Given the description of an element on the screen output the (x, y) to click on. 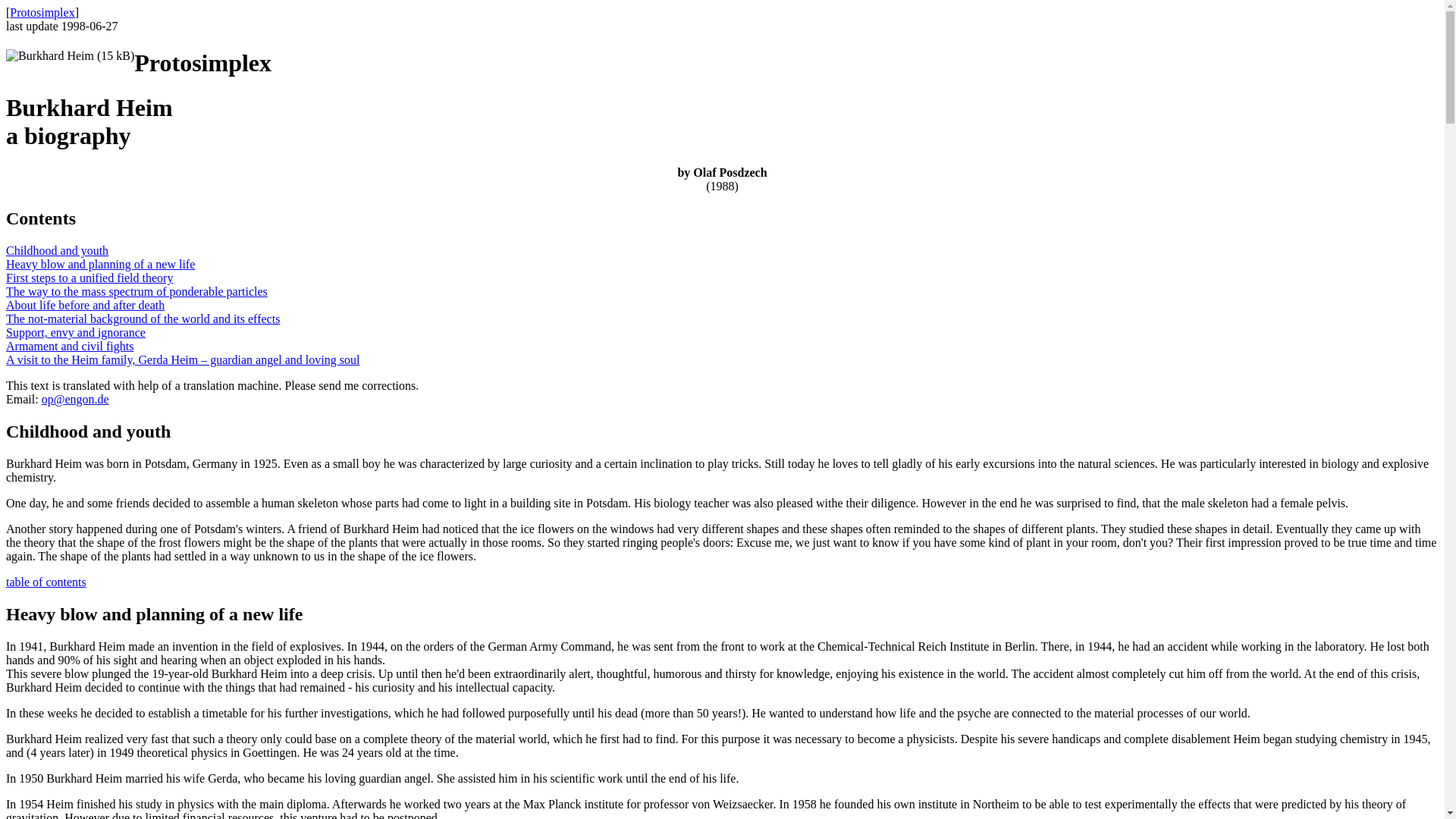
Support, envy and ignorance (75, 332)
The not-material background of the world and its effects (142, 318)
Protosimplex (42, 11)
First steps to a unified field theory (89, 277)
The way to the mass spectrum of ponderable particles (136, 291)
Childhood and youth (56, 250)
Armament and civil fights (69, 345)
Heavy blow and planning of a new life (100, 264)
table of contents (45, 581)
About life before and after death (84, 305)
